Given the description of an element on the screen output the (x, y) to click on. 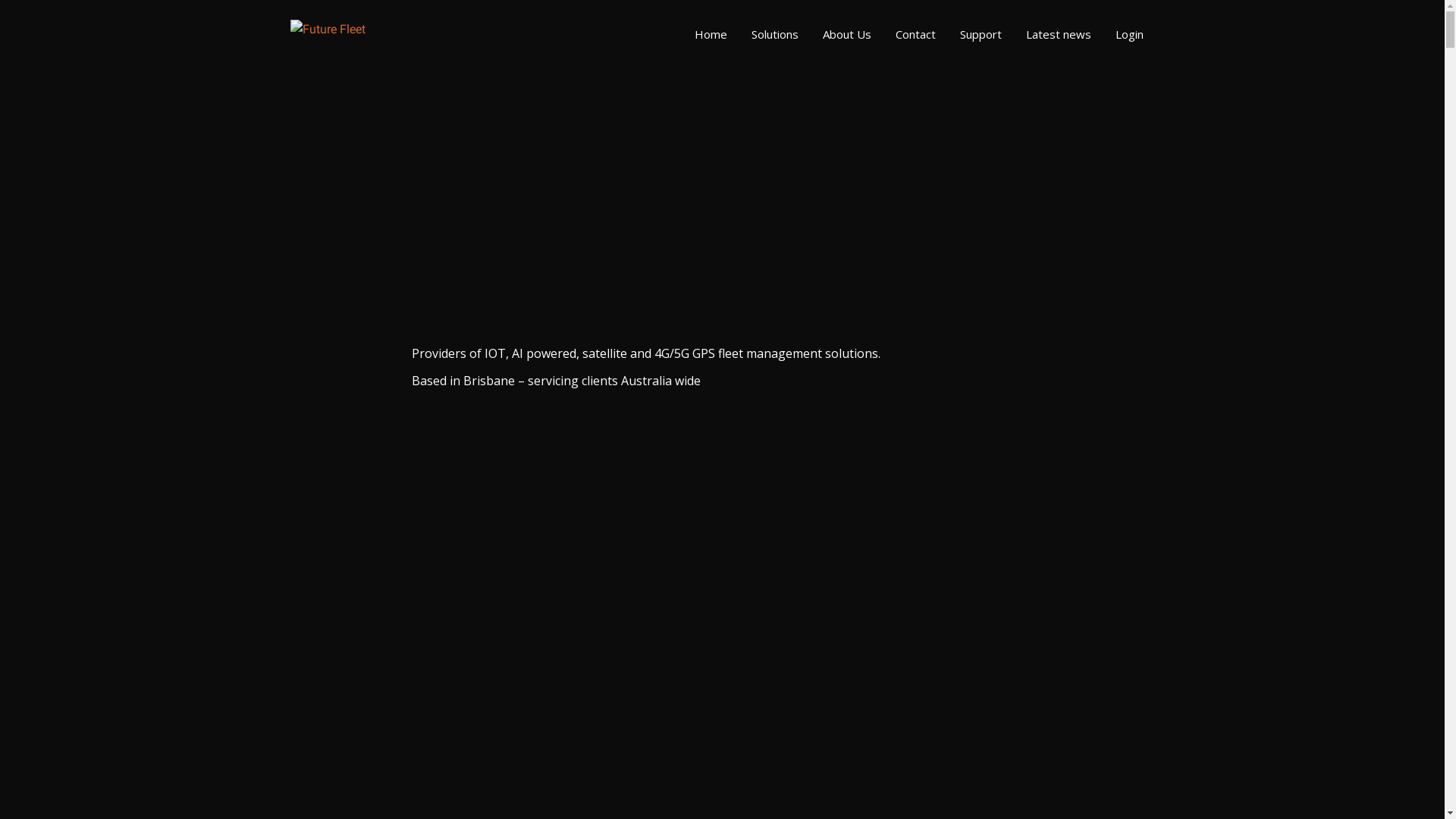
Home Element type: text (710, 34)
Latest news Element type: text (1057, 34)
About Us Element type: text (846, 34)
Contact Element type: text (914, 34)
Solutions Element type: text (773, 34)
Login Element type: text (1128, 34)
Support Element type: text (980, 34)
